Given the description of an element on the screen output the (x, y) to click on. 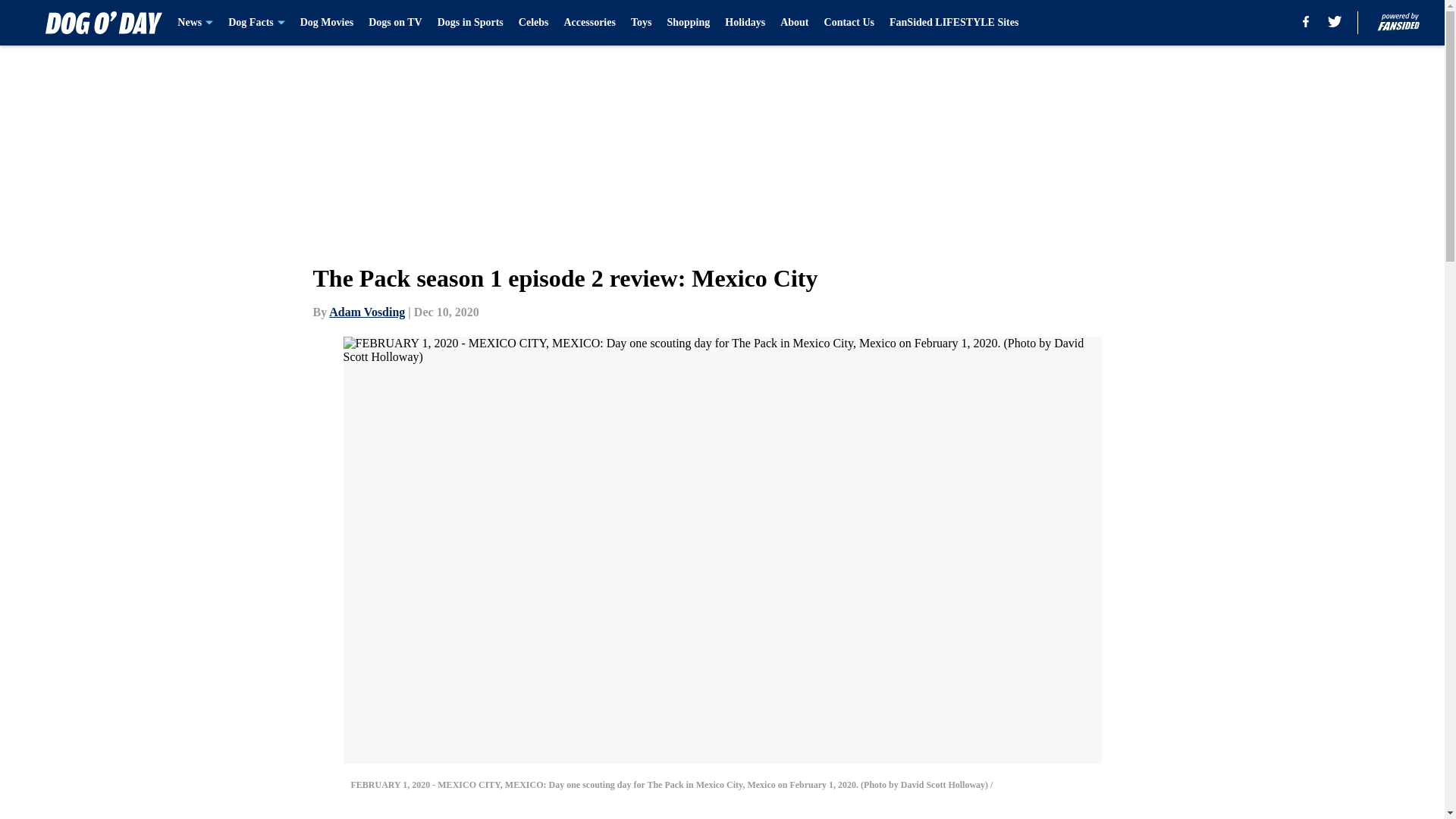
FanSided LIFESTYLE Sites (953, 22)
Holidays (745, 22)
Dogs in Sports (470, 22)
Dog Facts (256, 22)
Accessories (589, 22)
Dog Movies (326, 22)
Shopping (688, 22)
Dogs on TV (395, 22)
About (794, 22)
Contact Us (849, 22)
